Given the description of an element on the screen output the (x, y) to click on. 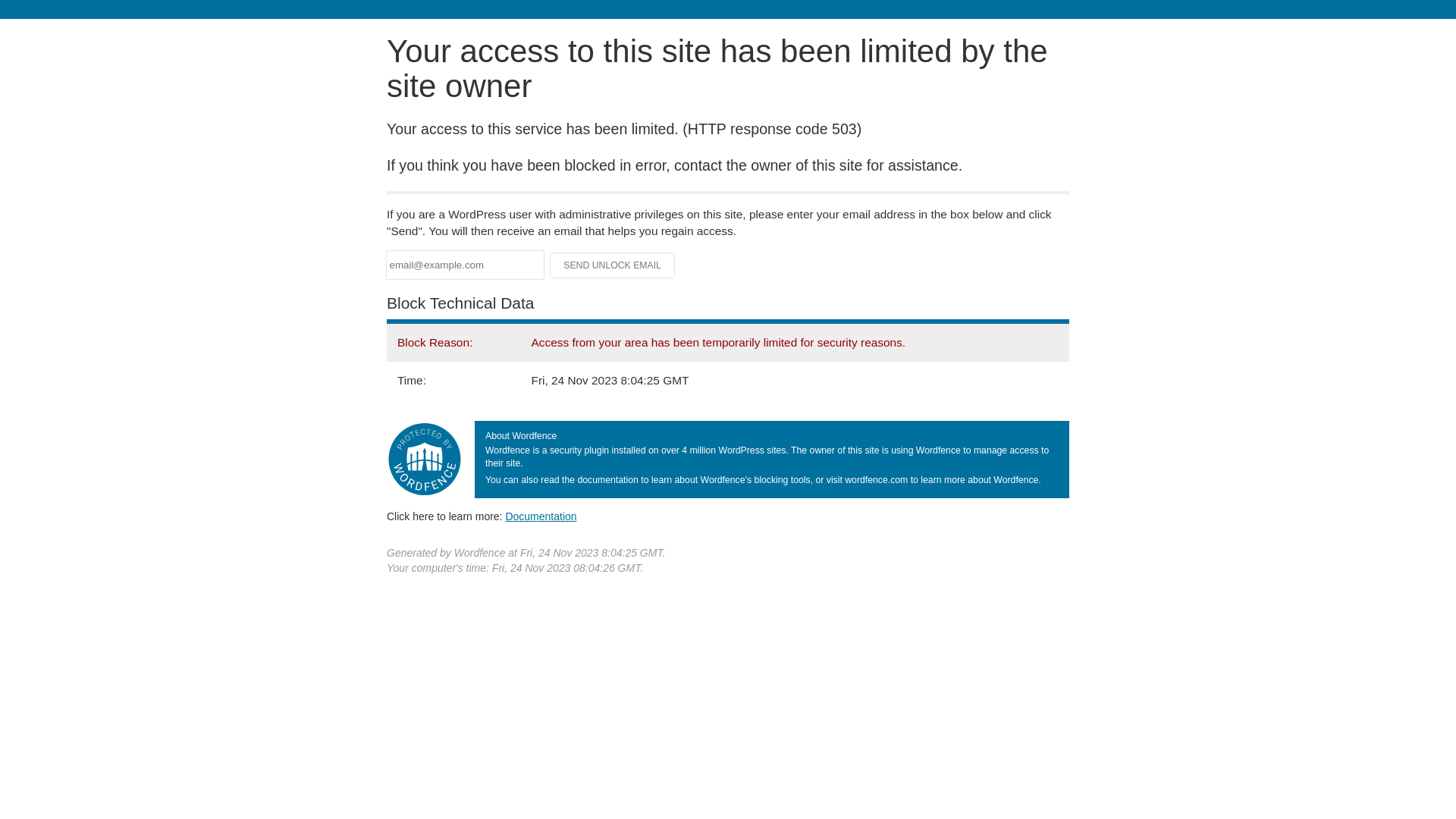
Send Unlock Email Element type: text (612, 265)
Documentation Element type: text (540, 516)
